Given the description of an element on the screen output the (x, y) to click on. 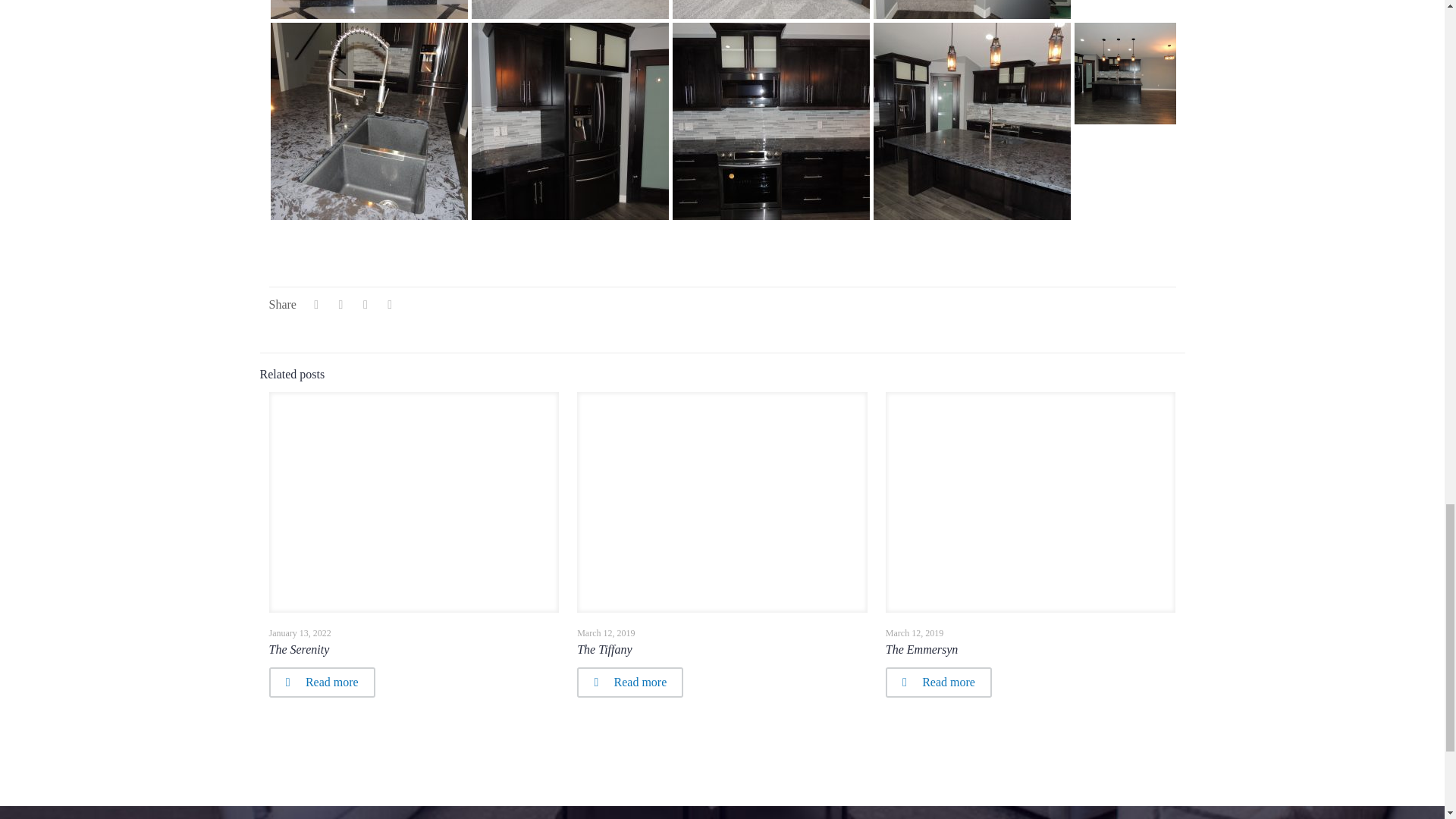
008 (971, 9)
009 (770, 9)
005 (368, 121)
Read more (320, 682)
The Serenity (298, 649)
017 (368, 9)
010 (569, 9)
